Given the description of an element on the screen output the (x, y) to click on. 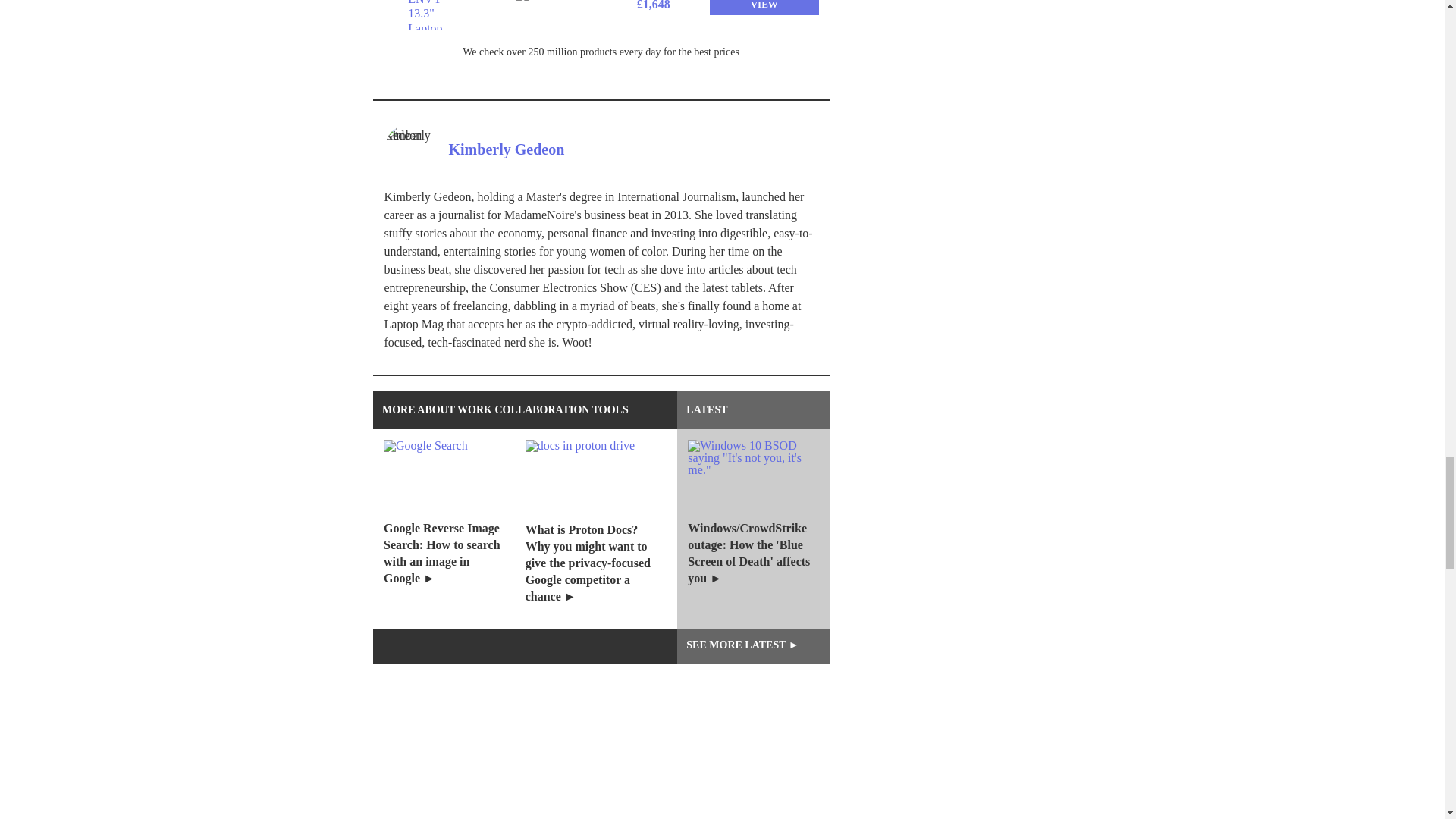
Amazon (546, 9)
HP ENVY 13.3" Laptop PC... (437, 15)
